Given the description of an element on the screen output the (x, y) to click on. 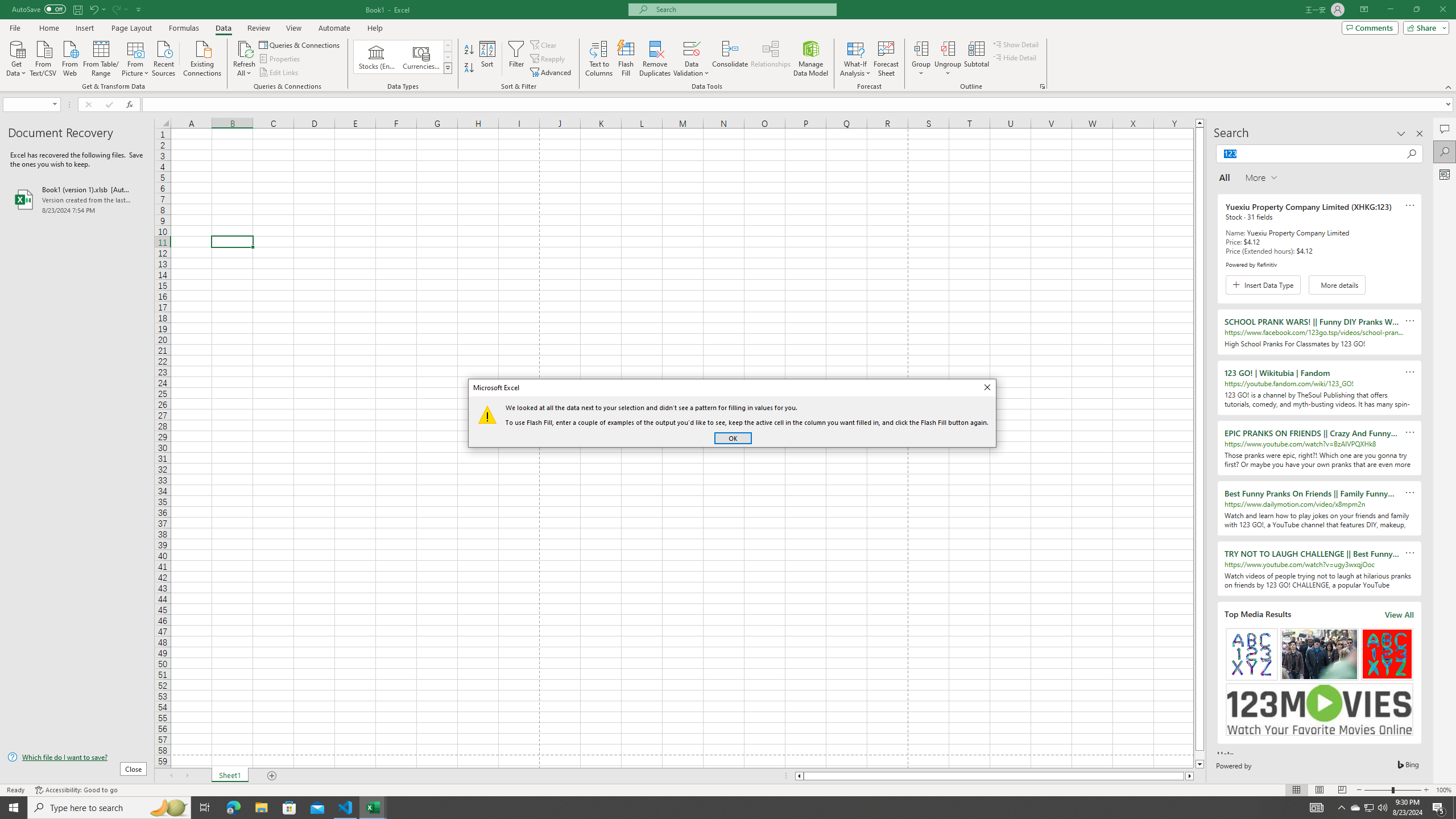
Existing Connections (202, 57)
User Promoted Notification Area (1368, 807)
Excel - 2 running windows (373, 807)
Reapply (548, 58)
Advanced... (551, 72)
